Given the description of an element on the screen output the (x, y) to click on. 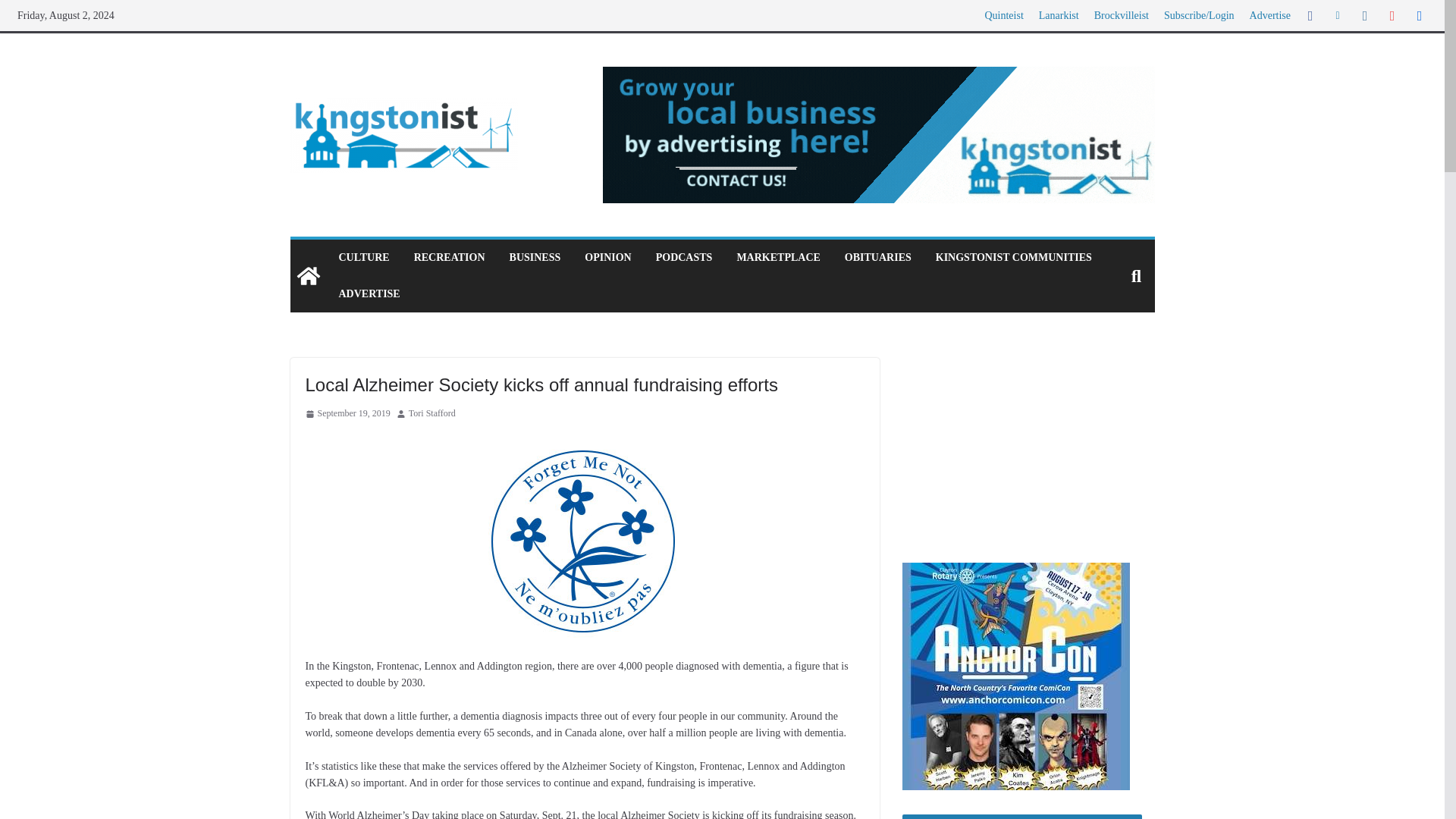
OPINION (607, 257)
Lanarkist (1058, 15)
OBITUARIES (877, 257)
MARKETPLACE (777, 257)
CULTURE (362, 257)
Advertise (1269, 15)
KINGSTONIST COMMUNITIES (1014, 257)
Quinteist (1003, 15)
Tori Stafford (432, 413)
3:40 pm (347, 413)
ADVERTISE (367, 293)
September 19, 2019 (347, 413)
PODCASTS (684, 257)
BUSINESS (534, 257)
Brockvilleist (1121, 15)
